Given the description of an element on the screen output the (x, y) to click on. 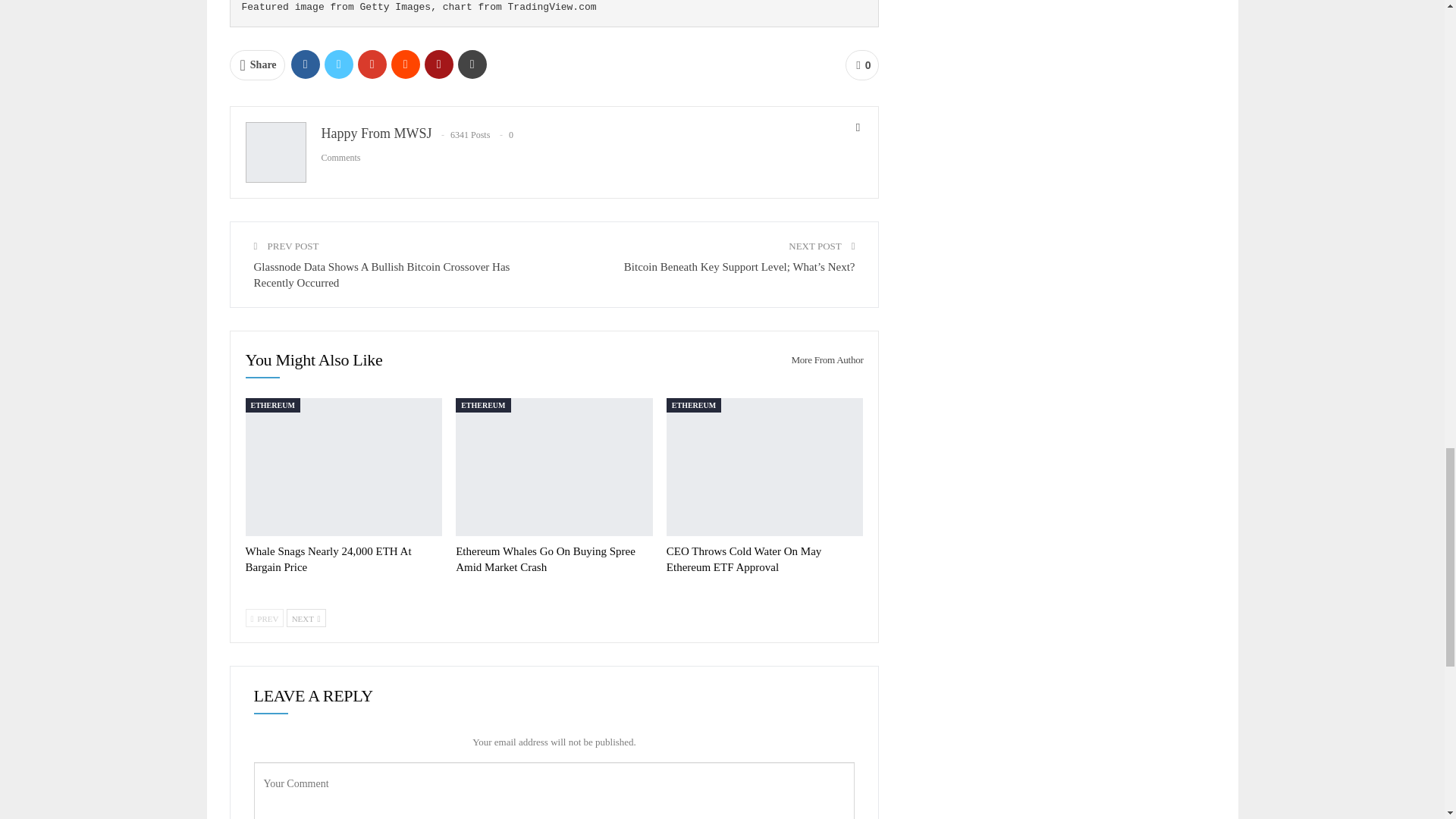
CEO Throws Cold Water On May Ethereum ETF Approval (743, 559)
Ethereum Whales Go On Buying Spree Amid Market Crash (544, 559)
CEO Throws Cold Water On May Ethereum ETF Approval (764, 467)
Ethereum Whales Go On Buying Spree Amid Market Crash (553, 467)
0 (862, 64)
Whale Snags Nearly 24,000 ETH At Bargain Price (329, 559)
Happy From MWSJ (376, 133)
Whale Snags Nearly 24,000 ETH At Bargain Price (344, 467)
